Given the description of an element on the screen output the (x, y) to click on. 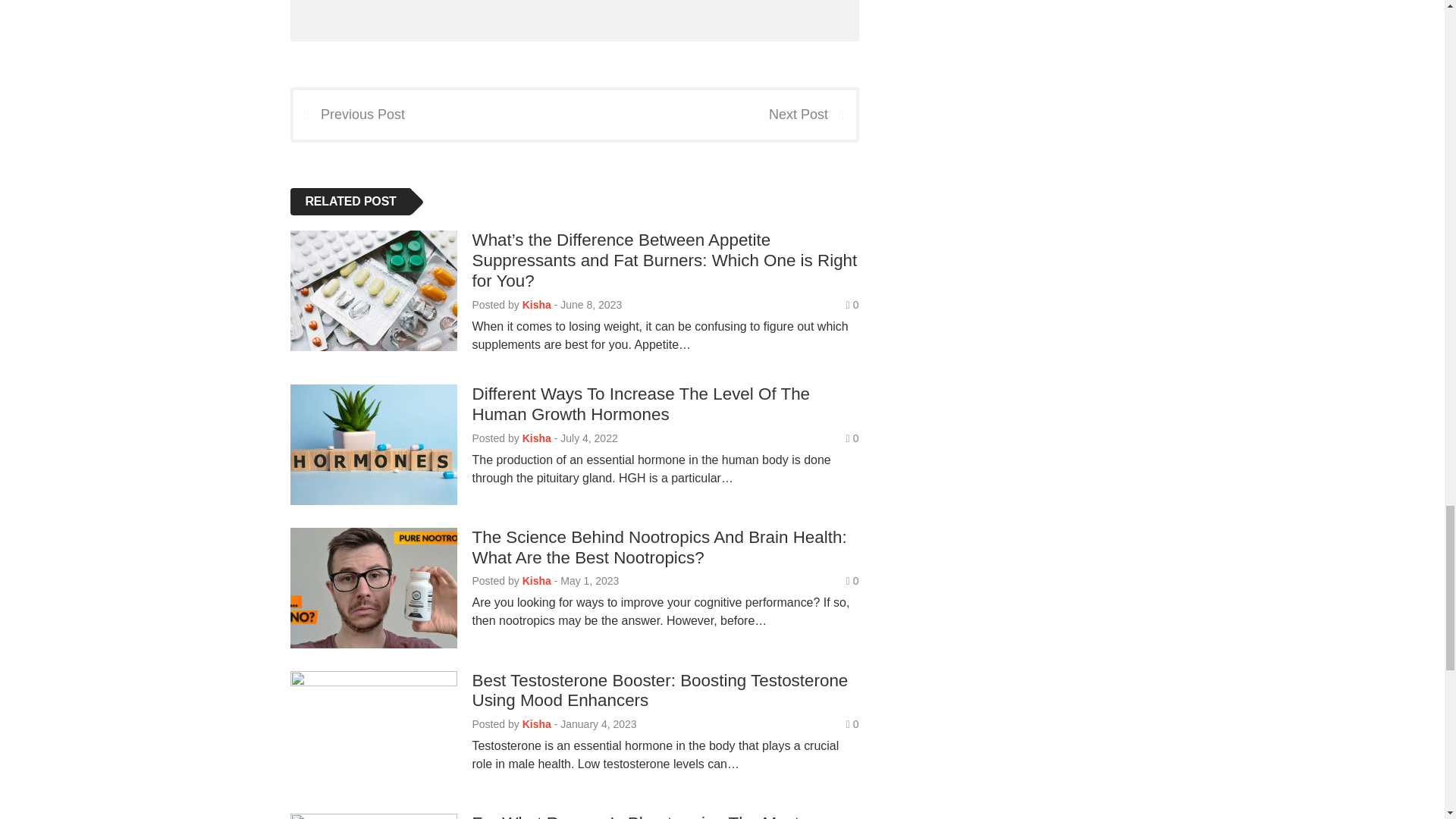
Previous Post (348, 114)
Posts by Kisha (536, 304)
Posts by Kisha (536, 438)
Next Post (812, 114)
